Given the description of an element on the screen output the (x, y) to click on. 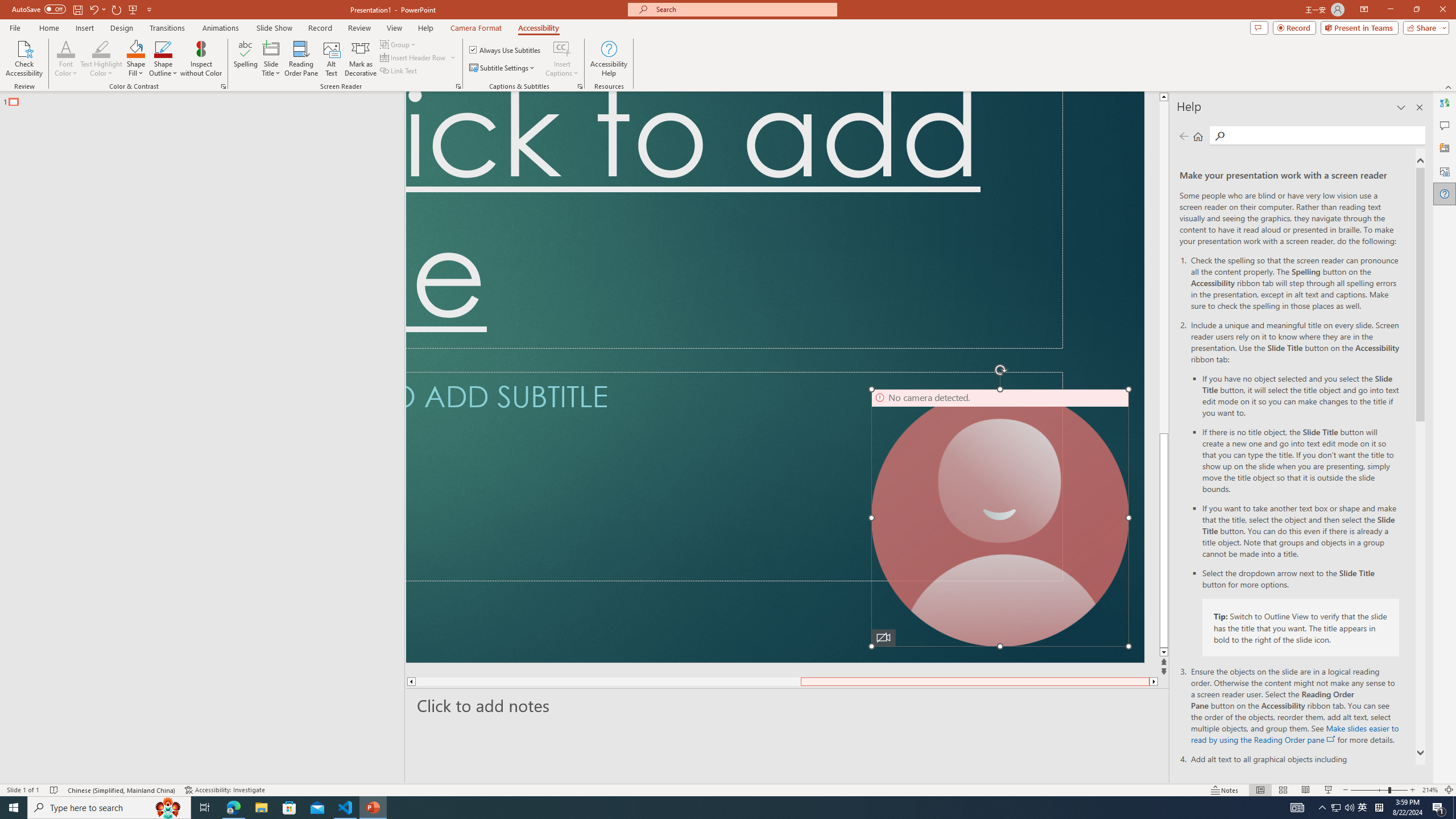
Subtitle TextBox (734, 476)
Reading Order Pane (301, 58)
